Given the description of an element on the screen output the (x, y) to click on. 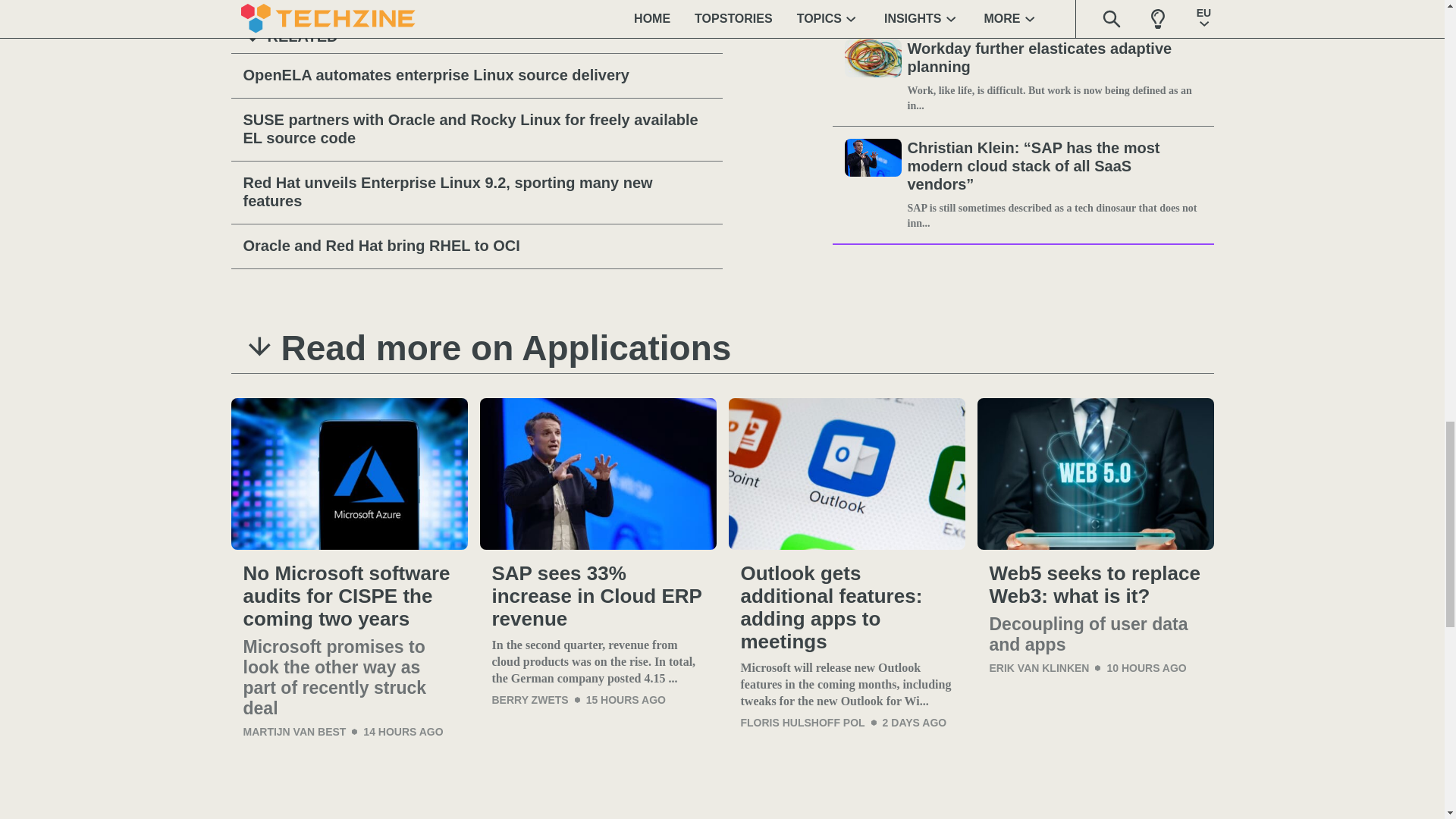
No Microsoft software audits for CISPE the coming two years (348, 595)
Oracle and Red Hat bring RHEL to OCI (476, 246)
No Microsoft software audits for CISPE the coming two years (348, 473)
OpenELA automates enterprise Linux source delivery (476, 75)
